Given the description of an element on the screen output the (x, y) to click on. 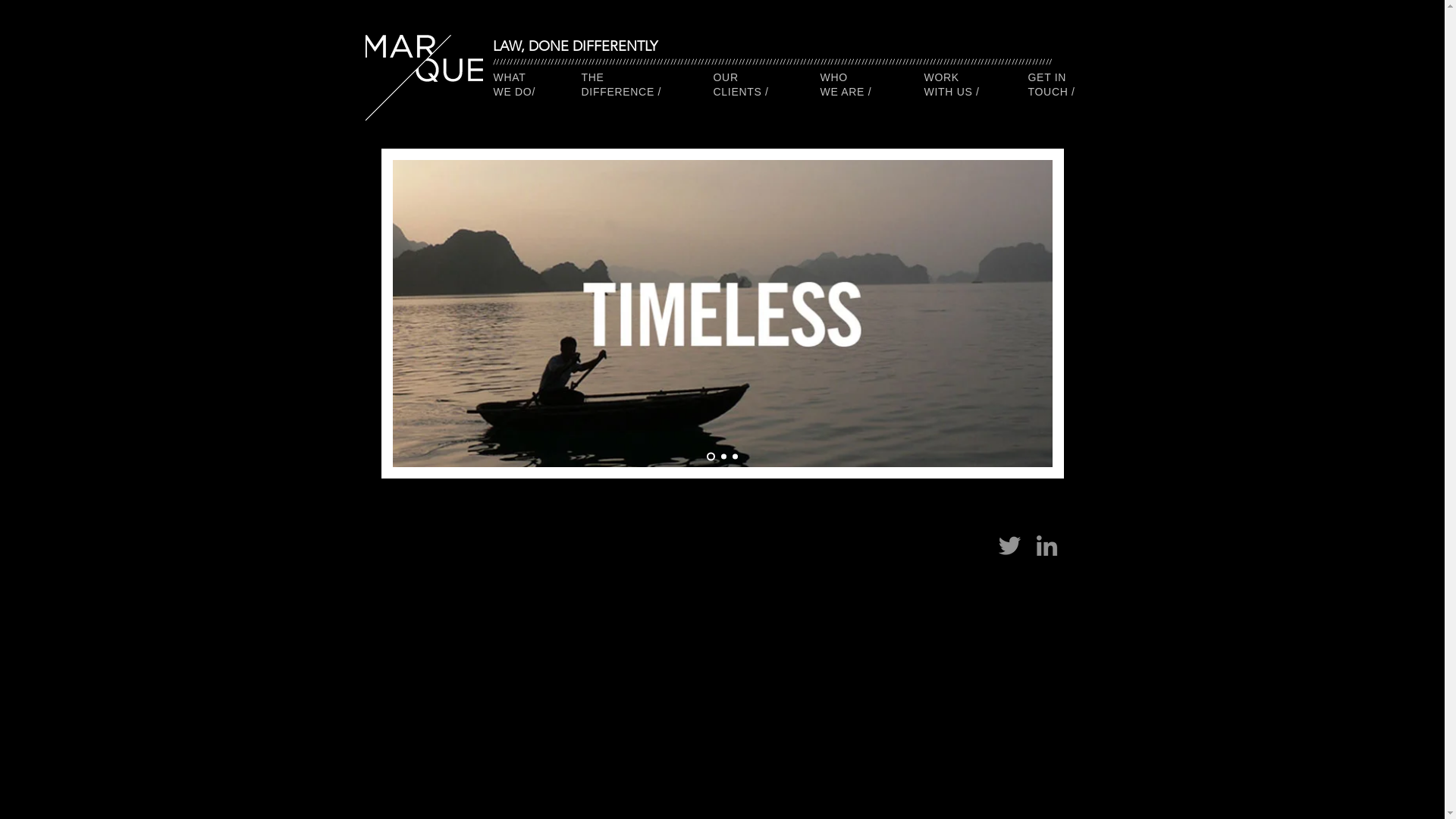
WHAT
WE DO/ Element type: text (513, 84)
THE
DIFFERENCE / Element type: text (620, 84)
WORK
WITH US / Element type: text (951, 84)
WHO
WE ARE / Element type: text (846, 84)
OUR
CLIENTS / Element type: text (740, 84)
GET IN
TOUCH / Element type: text (1051, 84)
